Given the description of an element on the screen output the (x, y) to click on. 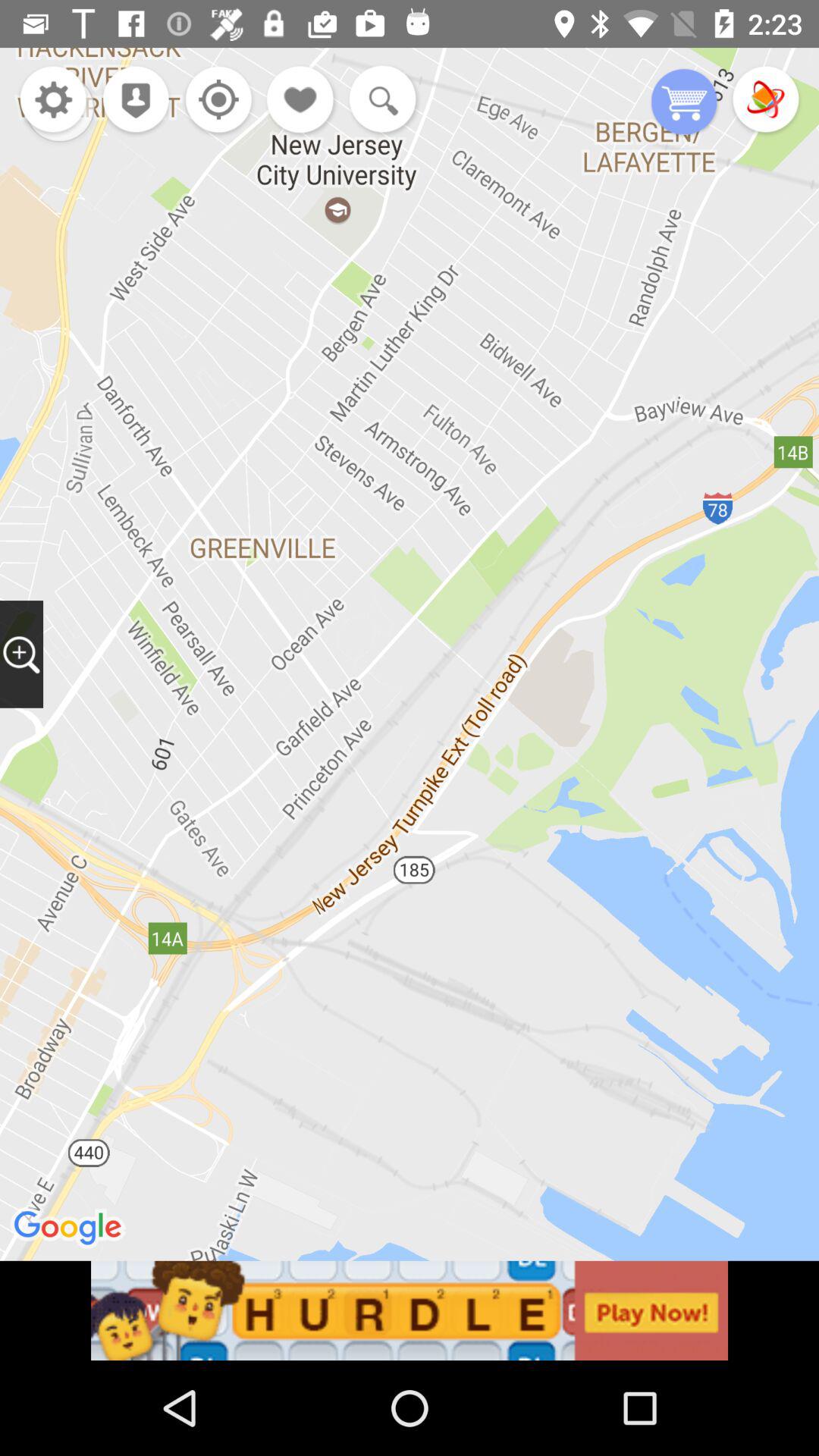
go to setting (214, 101)
